Given the description of an element on the screen output the (x, y) to click on. 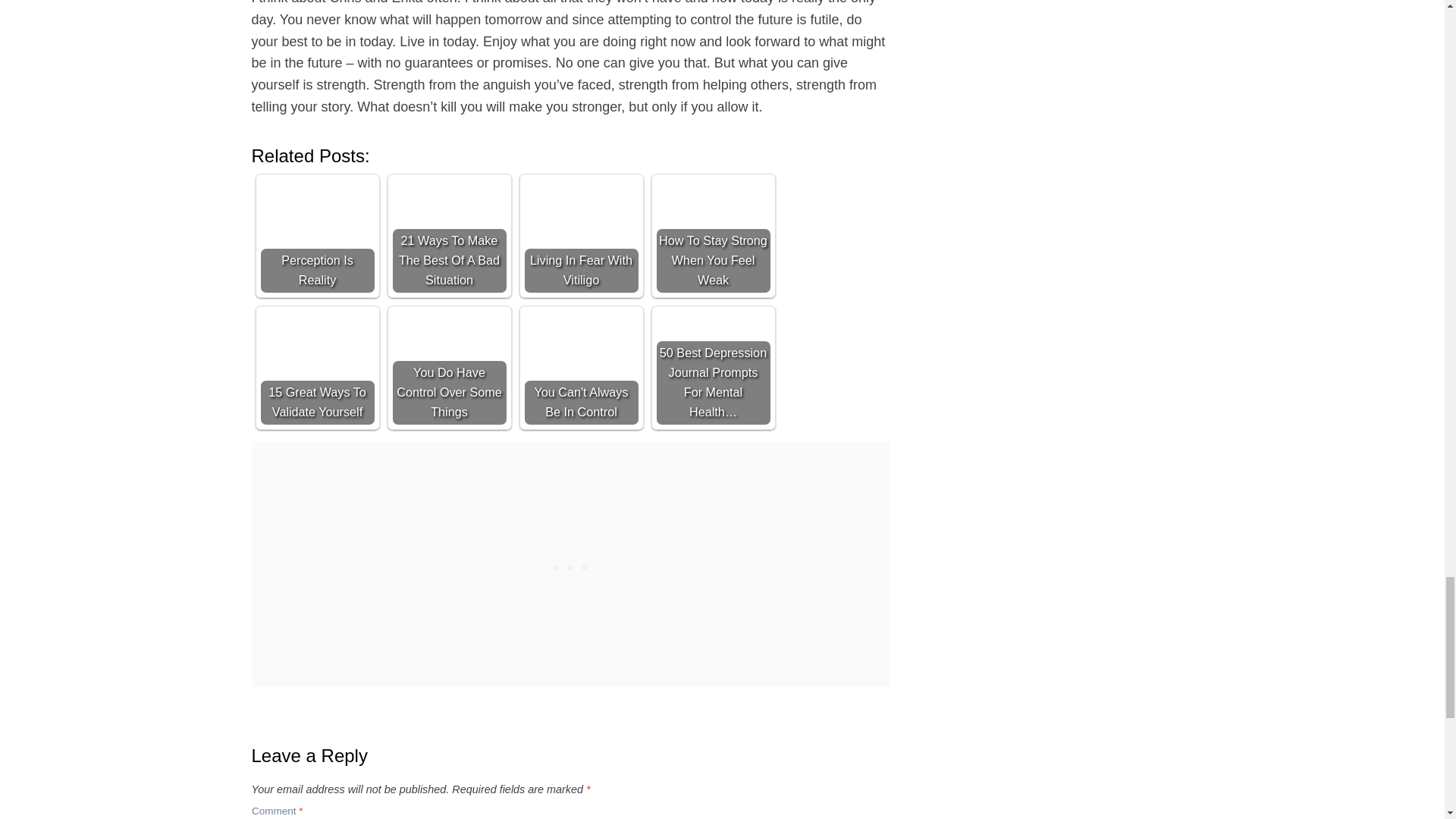
You Do Have Control Over Some Things (449, 368)
15 Great Ways To Validate Yourself (317, 368)
21 Ways To Make The Best Of A Bad Situation (449, 235)
How To Stay Strong When You Feel Weak (713, 235)
How To Stay Strong When You Feel Weak (713, 235)
You Do Have Control Over Some Things (449, 368)
Living In Fear With Vitiligo (581, 235)
You Can't Always Be In Control (581, 368)
21 Ways To Make The Best Of A Bad Situation (449, 235)
Perception Is Reality (317, 235)
Living In Fear With Vitiligo (581, 235)
15 Great Ways To Validate Yourself (317, 368)
Perception Is Reality (317, 235)
